Given the description of an element on the screen output the (x, y) to click on. 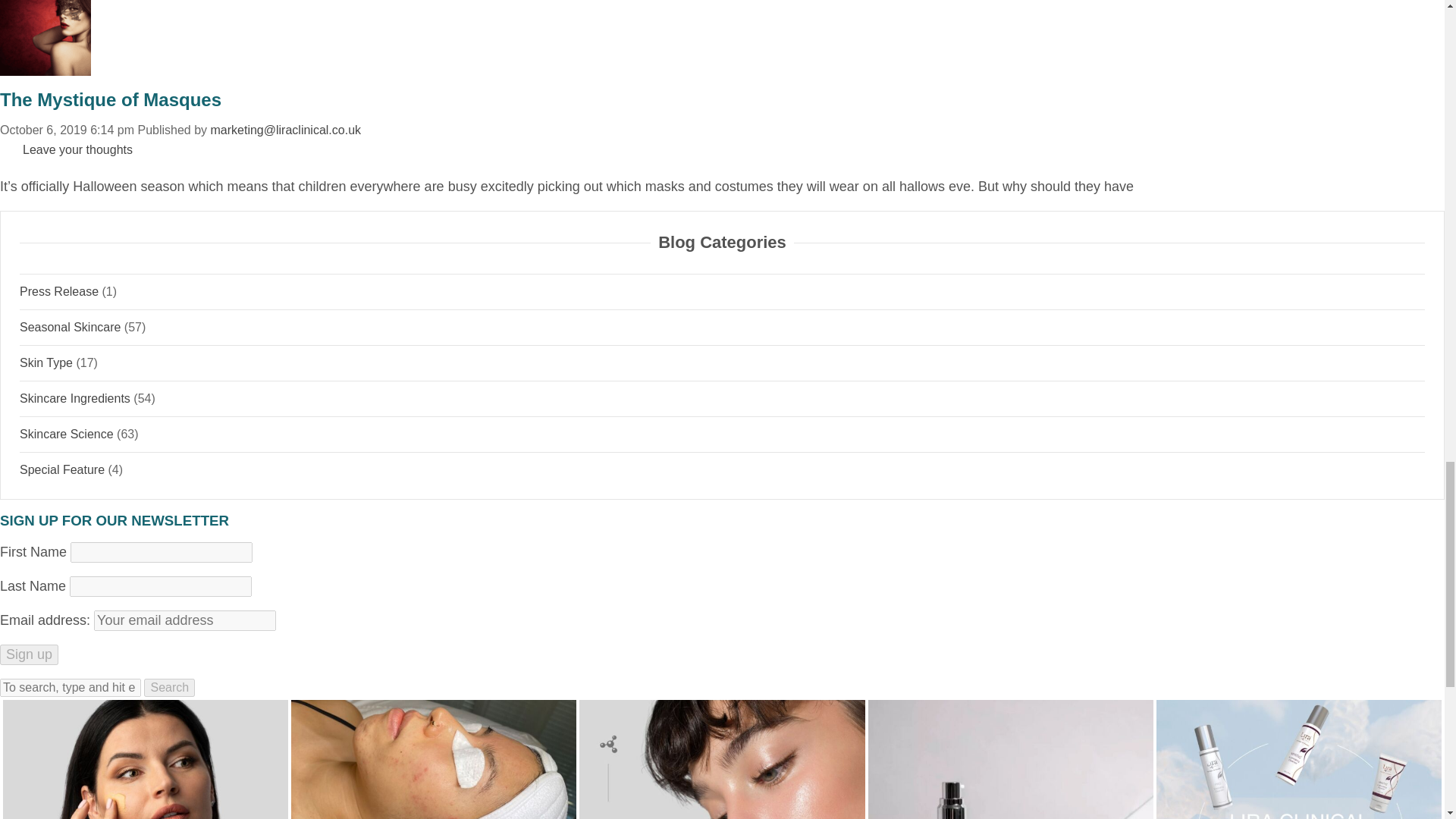
Sign up (29, 654)
The Mystique of Masques (110, 99)
The Mystique of Masques (570, 38)
